Given the description of an element on the screen output the (x, y) to click on. 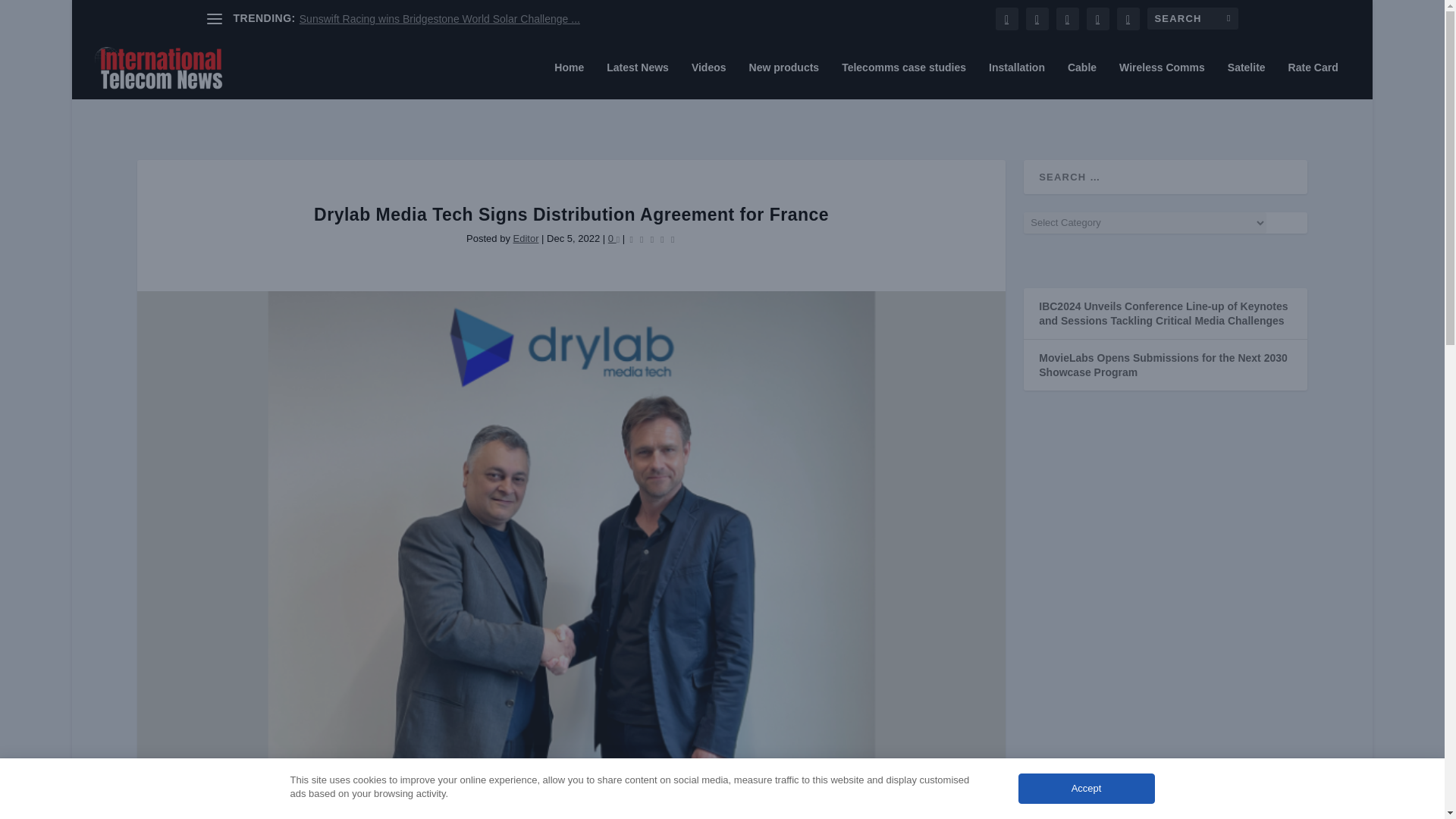
Rating: 0.00 (652, 238)
Videos (708, 80)
Search for: (1192, 18)
Telecomms case studies (903, 80)
0 (614, 238)
New products (784, 80)
Latest News (637, 80)
Satelite (1246, 80)
Wireless Comms (1162, 80)
Editor (525, 238)
Posts by Editor (525, 238)
Installation (1016, 80)
Sunswift Racing wins Bridgestone World Solar Challenge ... (439, 19)
